Given the description of an element on the screen output the (x, y) to click on. 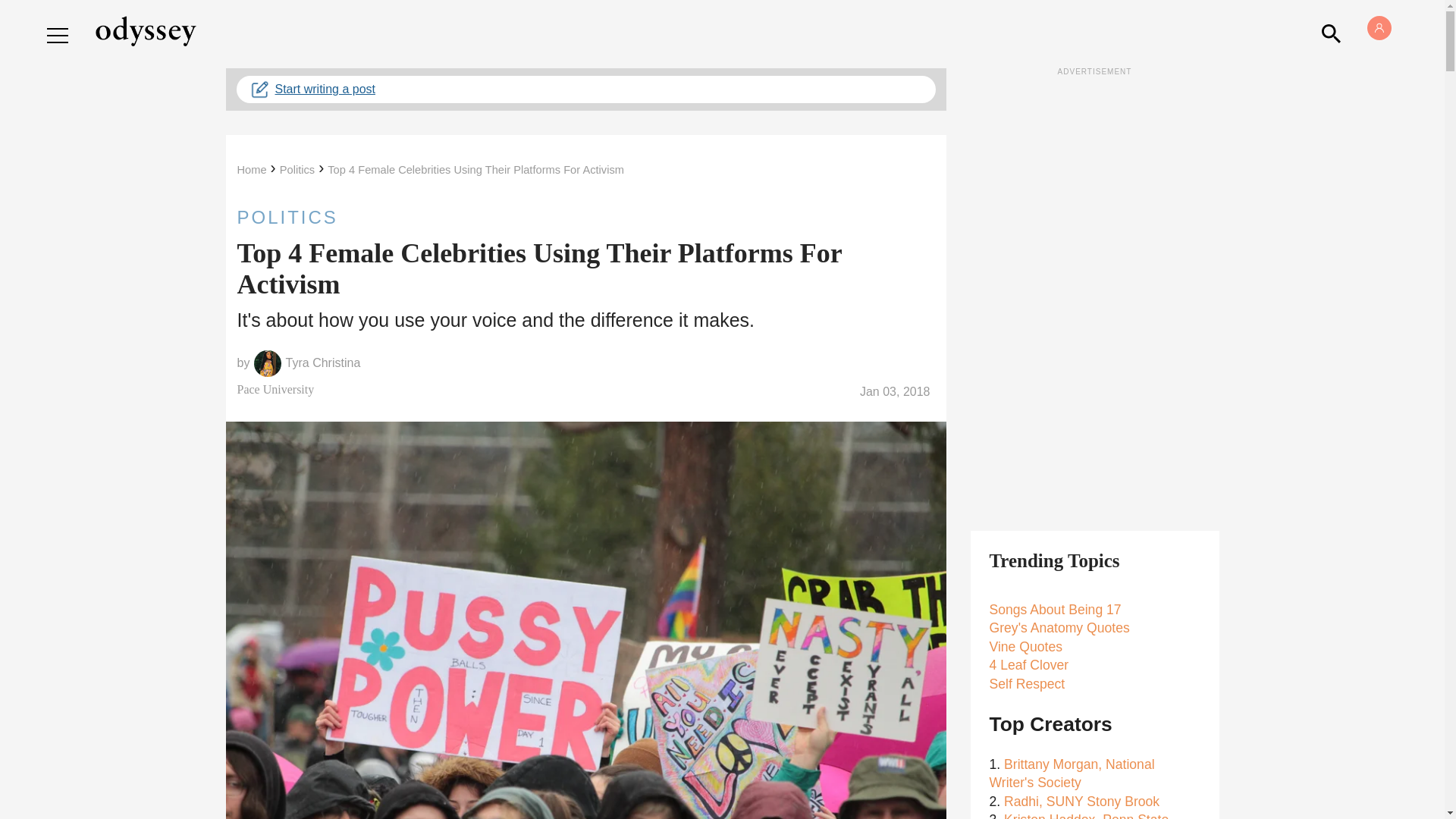
Tyra Christina (323, 363)
Politics (296, 169)
Home (250, 169)
POLITICS (584, 217)
Start writing a post (585, 89)
Top 4 Female Celebrities Using Their Platforms For Activism (475, 169)
